Given the description of an element on the screen output the (x, y) to click on. 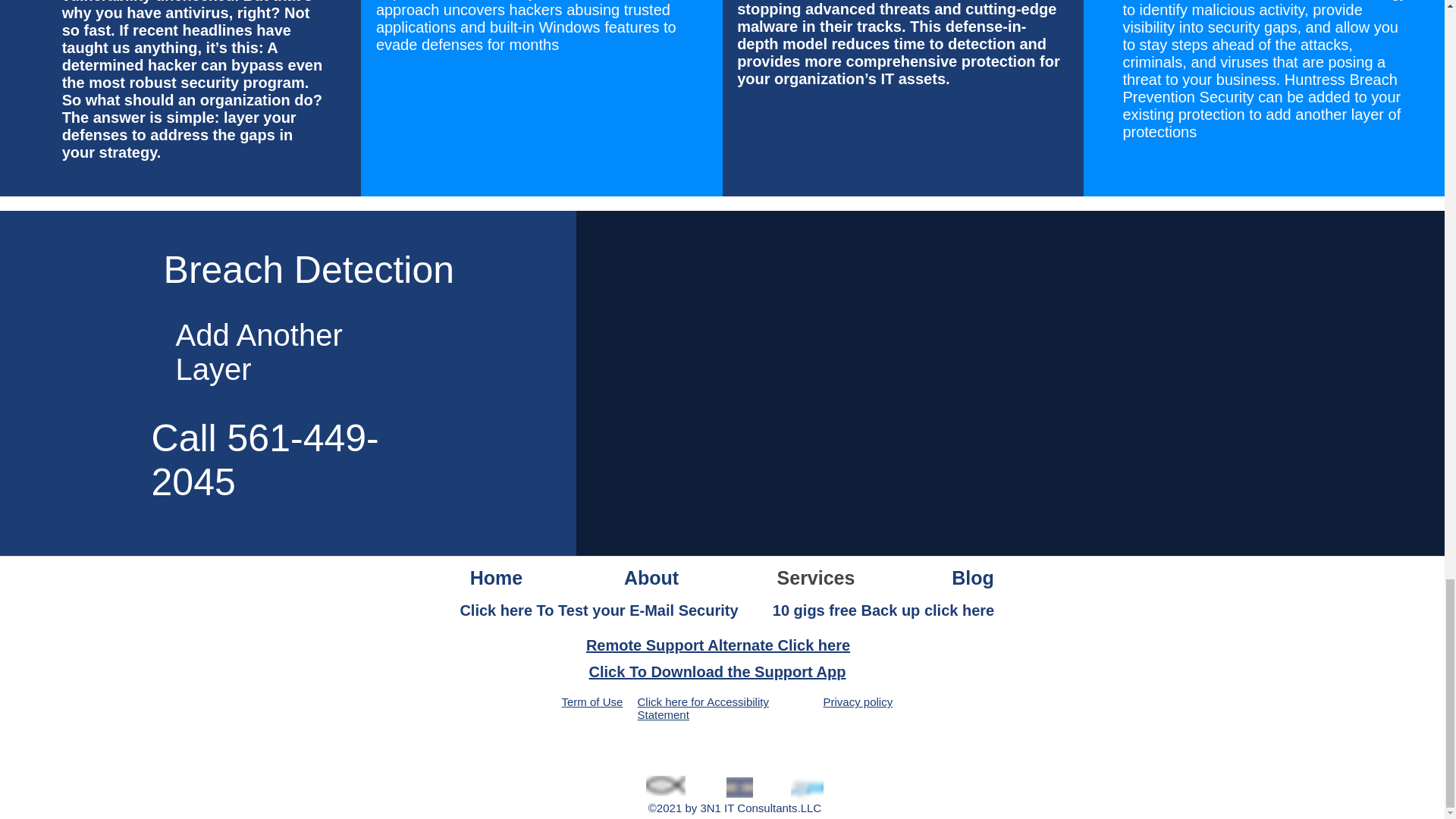
Home (496, 576)
Services (815, 576)
About (651, 576)
